Given the description of an element on the screen output the (x, y) to click on. 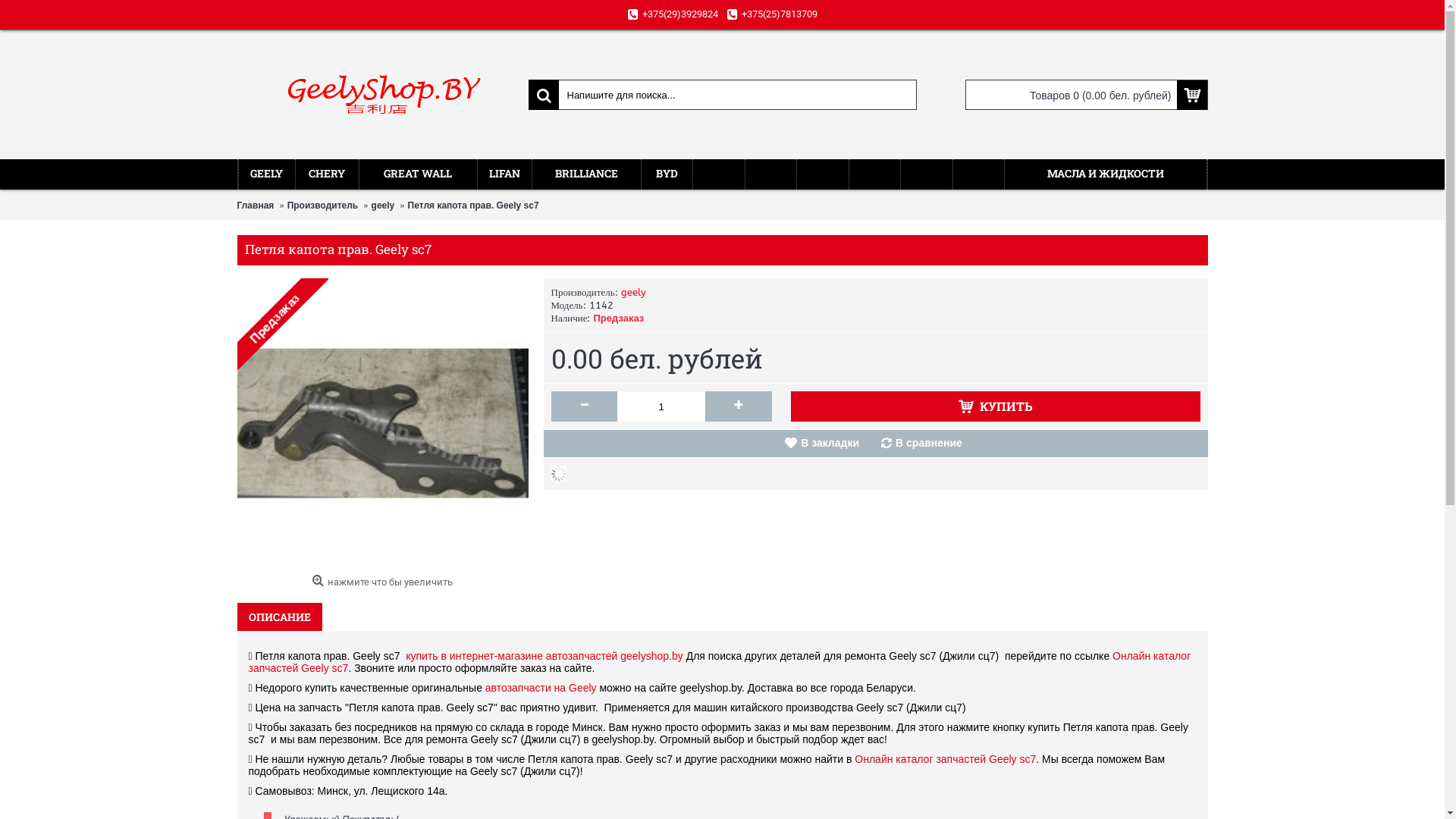
CHERY Element type: text (326, 174)
geely Element type: text (633, 292)
GREAT WALL Element type: text (417, 174)
BYD Element type: text (667, 174)
Geelyshop.by Element type: hover (381, 94)
- Element type: text (583, 406)
+375(29)3929824 Element type: text (672, 15)
GEELY Element type: text (266, 174)
geely Element type: text (383, 205)
+ Element type: text (738, 406)
+375(25)7813709 Element type: text (771, 15)
LIFAN Element type: text (504, 174)
BRILLIANCE Element type: text (586, 174)
